Given the description of an element on the screen output the (x, y) to click on. 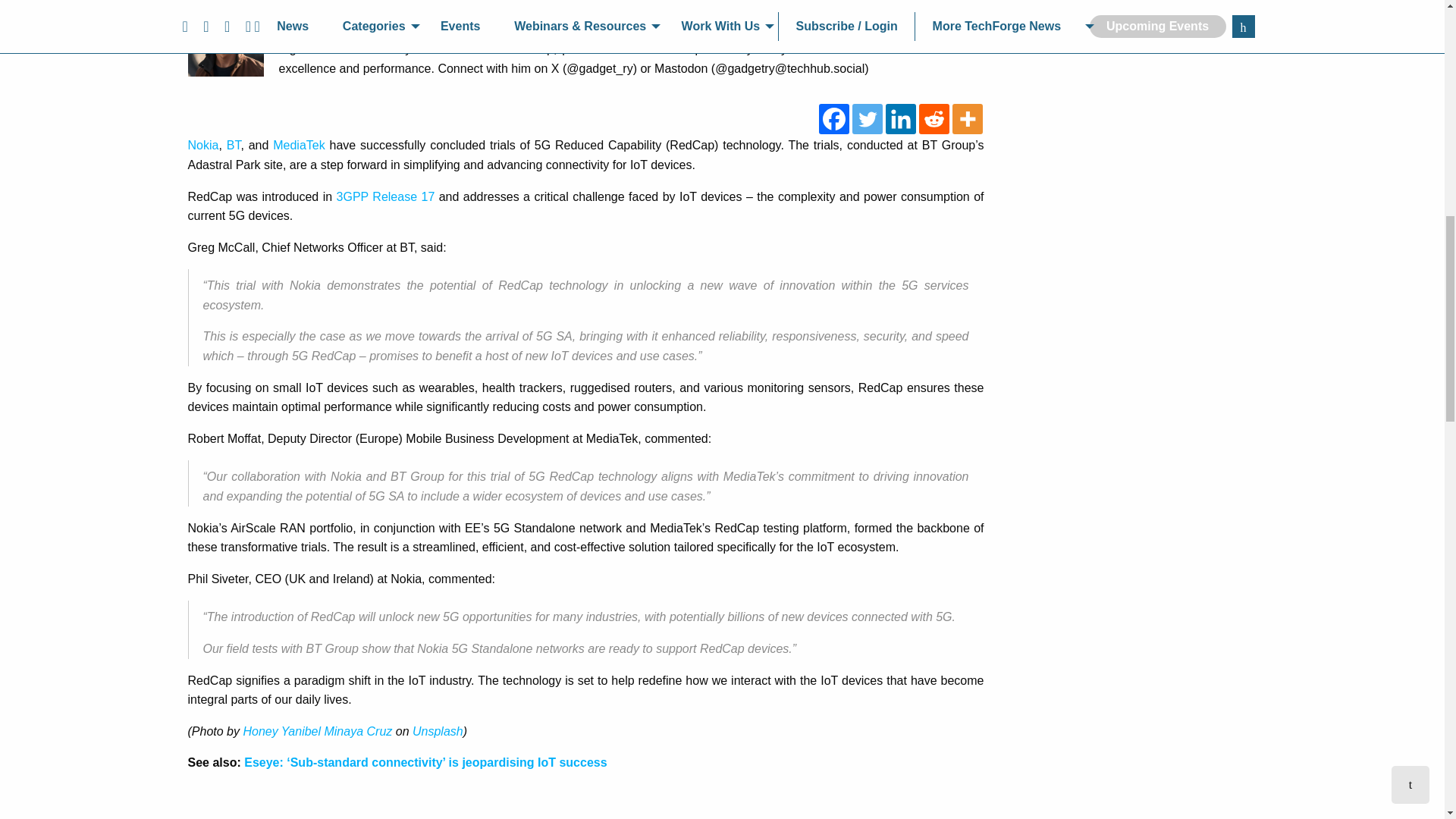
Reddit (933, 119)
Linkedin (900, 119)
Facebook (833, 119)
Twitter (866, 119)
More (967, 119)
